Given the description of an element on the screen output the (x, y) to click on. 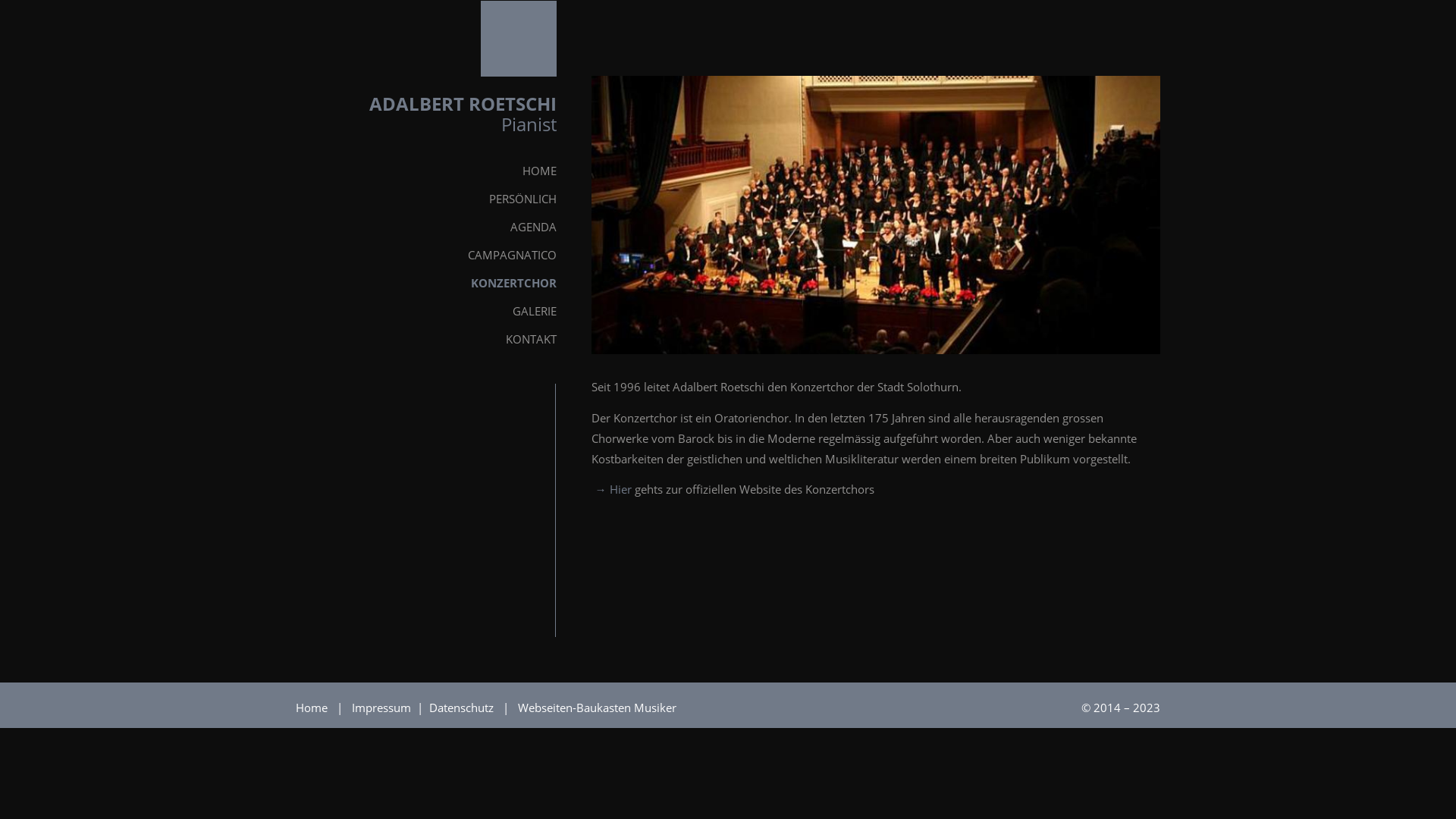
CAMPAGNATICO Element type: text (437, 255)
KONZERTCHOR Element type: text (437, 283)
HOME Element type: text (437, 170)
Impressum Element type: text (382, 707)
Datenschutz Element type: text (462, 707)
Home Element type: text (311, 707)
Webseiten-Baukasten Musiker Element type: text (596, 707)
GALERIE Element type: text (437, 311)
AGENDA Element type: text (437, 227)
KONTAKT Element type: text (437, 339)
Hier Element type: text (611, 488)
